Given the description of an element on the screen output the (x, y) to click on. 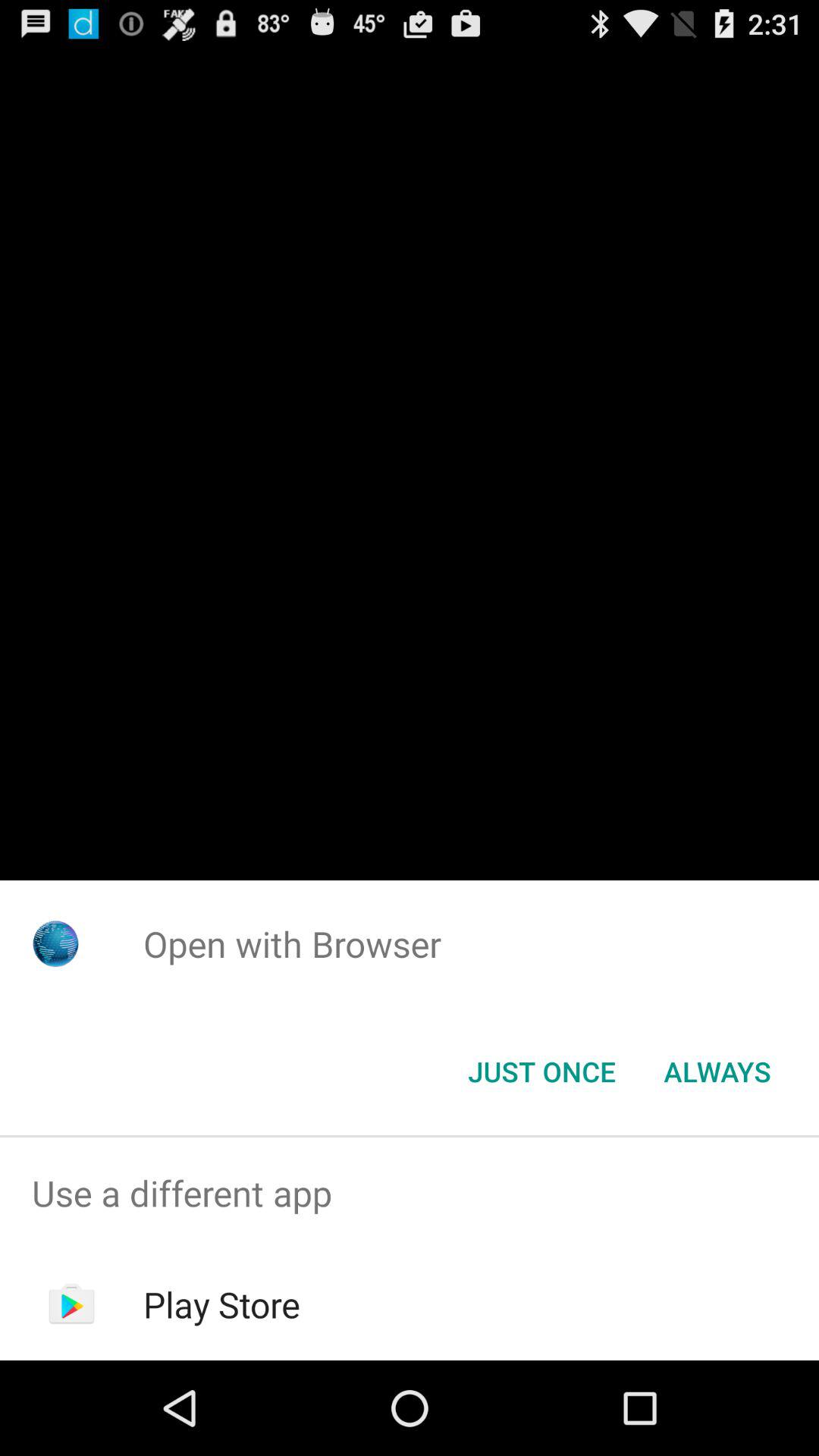
turn off the icon to the right of the just once icon (717, 1071)
